Given the description of an element on the screen output the (x, y) to click on. 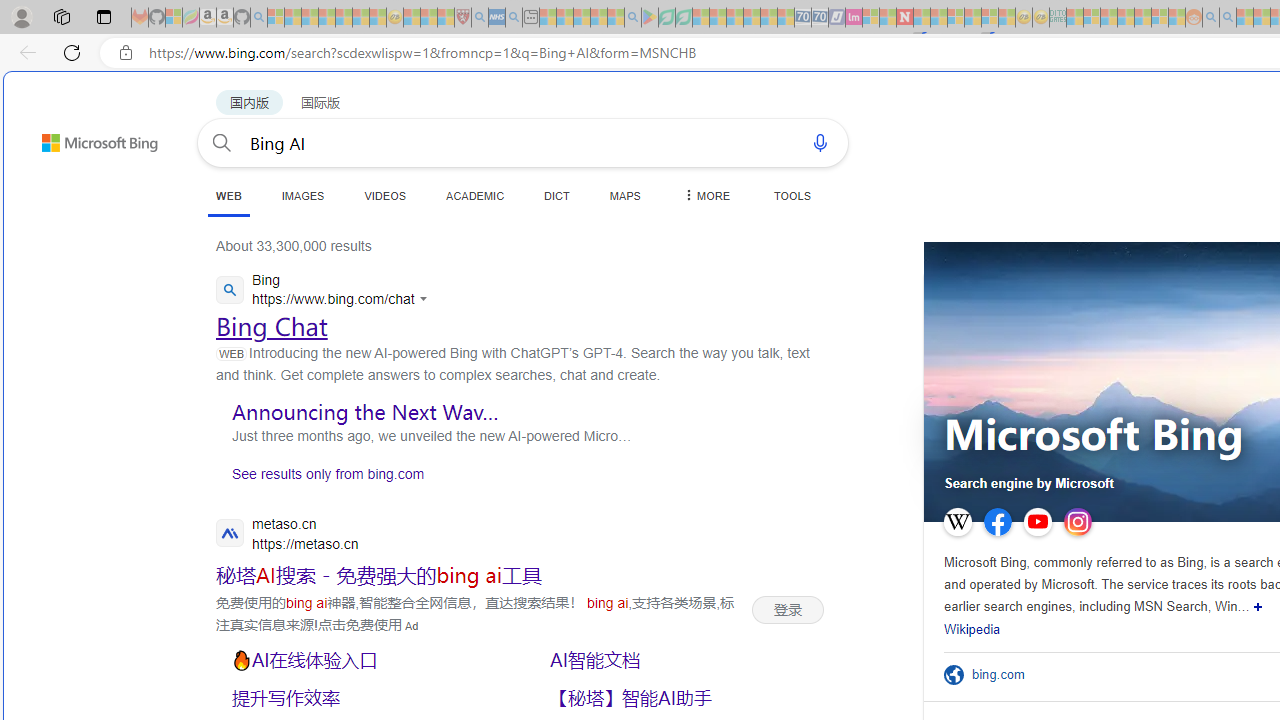
Terms of Use Agreement - Sleeping (666, 17)
MAPS (624, 195)
Pets - MSN - Sleeping (598, 17)
Search using voice (820, 142)
See results only from bing.com (320, 478)
Expert Portfolios - Sleeping (1125, 17)
MORE (705, 195)
Actions for this site (425, 298)
Kinda Frugal - MSN - Sleeping (1142, 17)
Back to Bing search (87, 138)
